Given the description of an element on the screen output the (x, y) to click on. 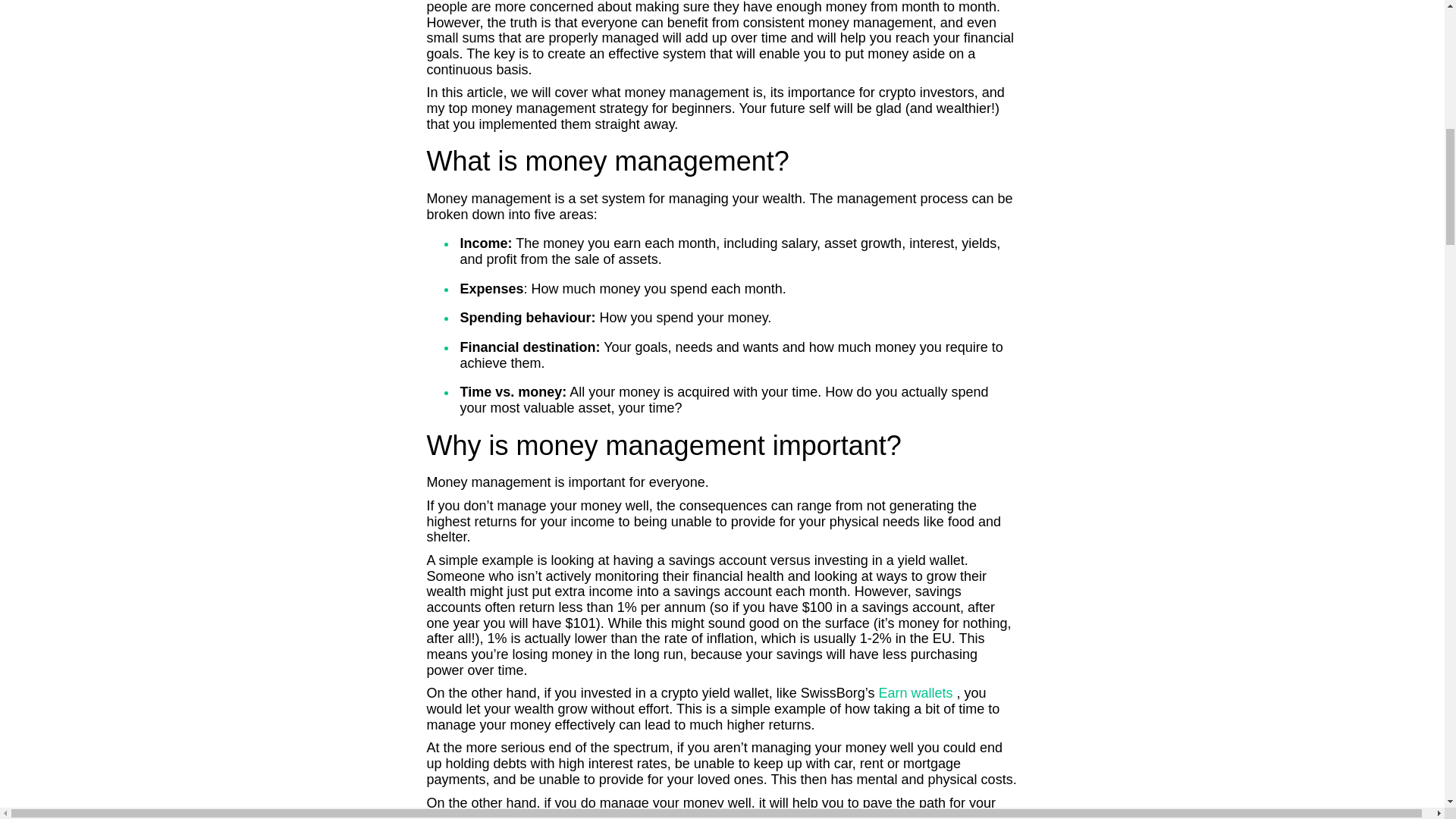
Earn wallets (916, 693)
